Given the description of an element on the screen output the (x, y) to click on. 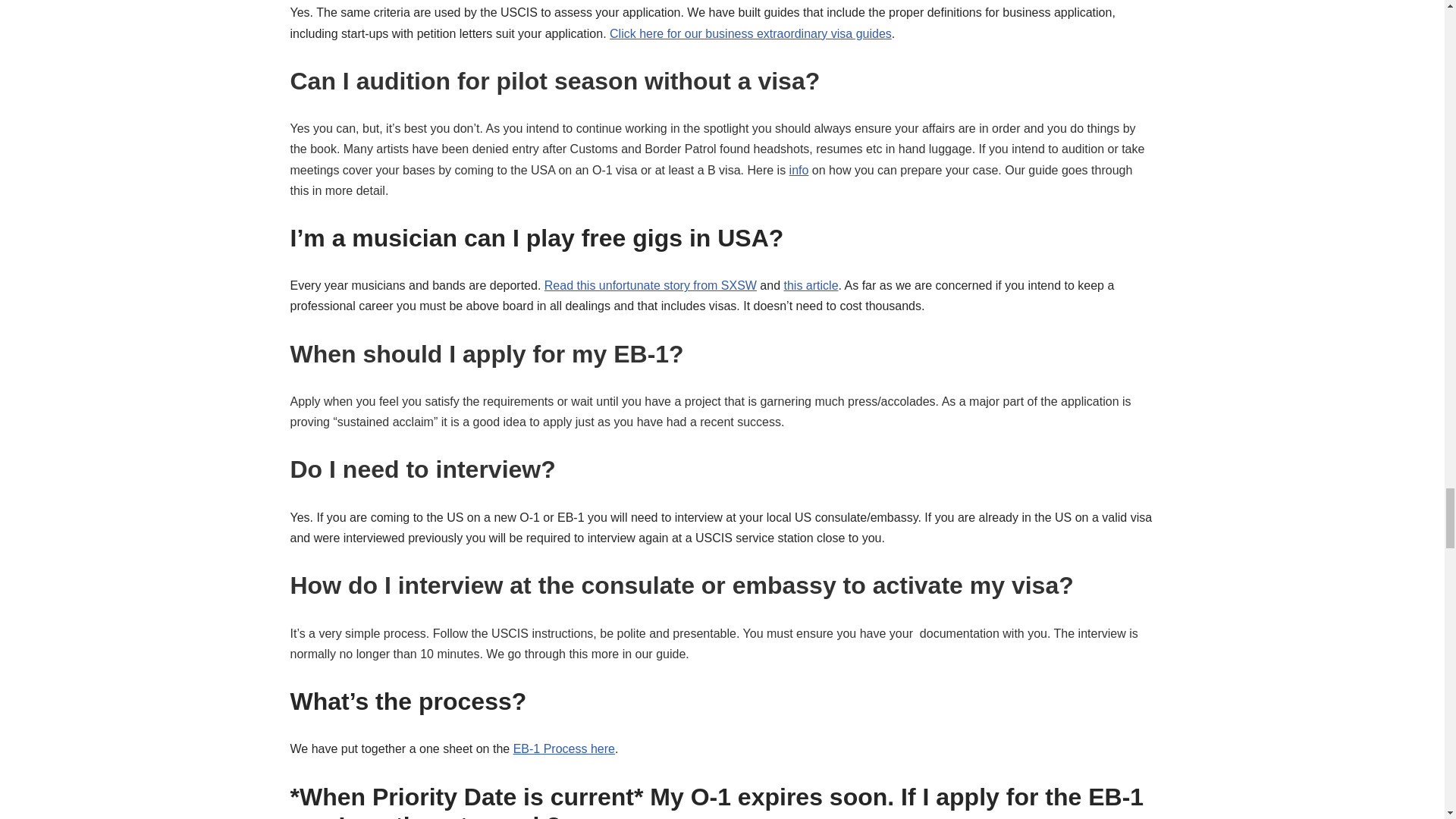
Read this unfortunate story from SXSW (650, 285)
Click here for our business extraordinary visa guides (750, 33)
EB-1 Process here (563, 748)
info (799, 169)
this article (811, 285)
